Given the description of an element on the screen output the (x, y) to click on. 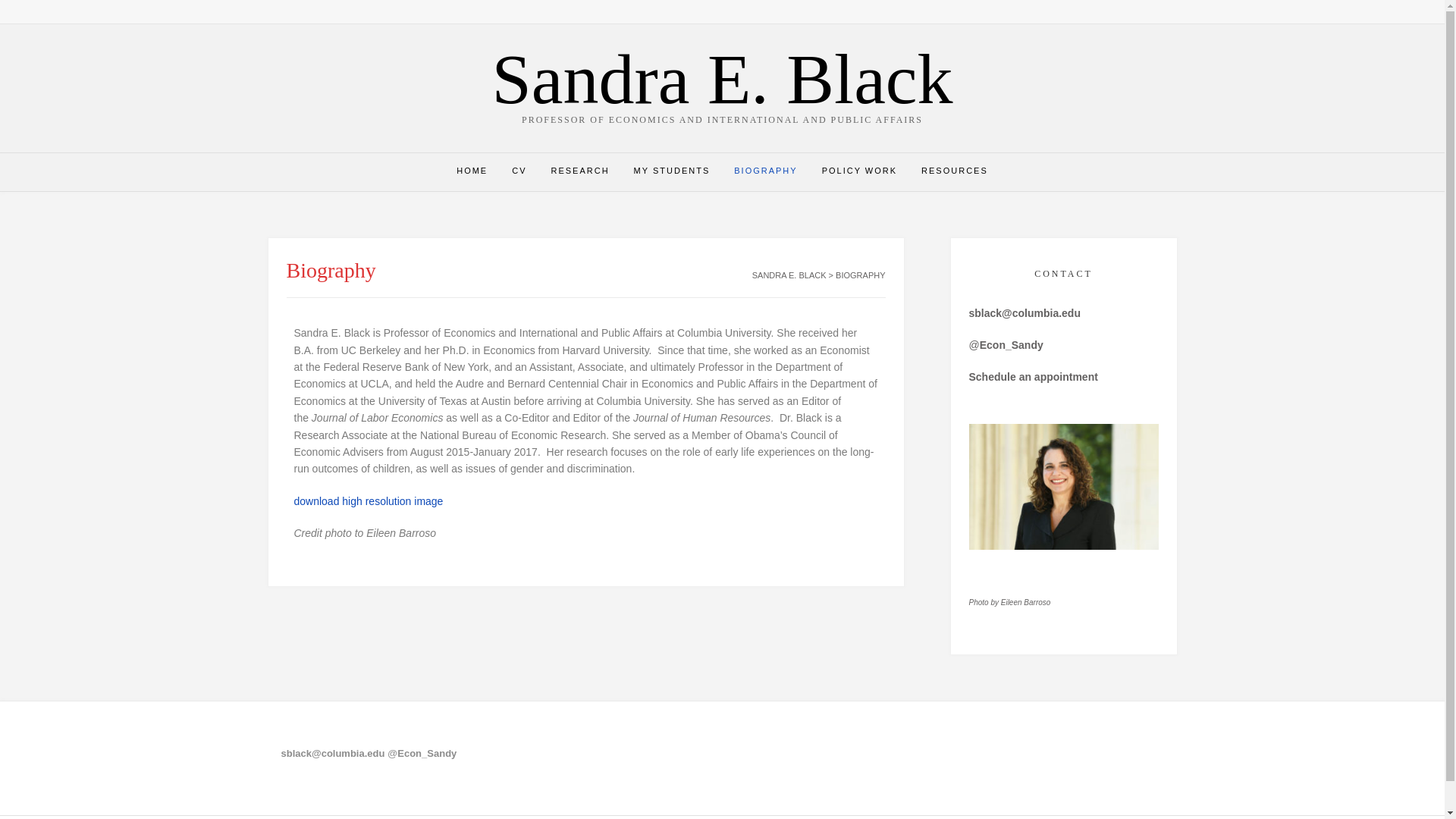
CV (518, 171)
RESEARCH (579, 171)
HOME (471, 171)
BIOGRAPHY (765, 171)
RESOURCES (954, 171)
Schedule an appointment (1033, 377)
MY STUDENTS (671, 171)
Sandra E. Black (722, 78)
Go to Sandra E. Black. (789, 275)
POLICY WORK (858, 171)
download high resolution image (369, 500)
Sandra E. Black (722, 78)
SANDRA E. BLACK (789, 275)
